Given the description of an element on the screen output the (x, y) to click on. 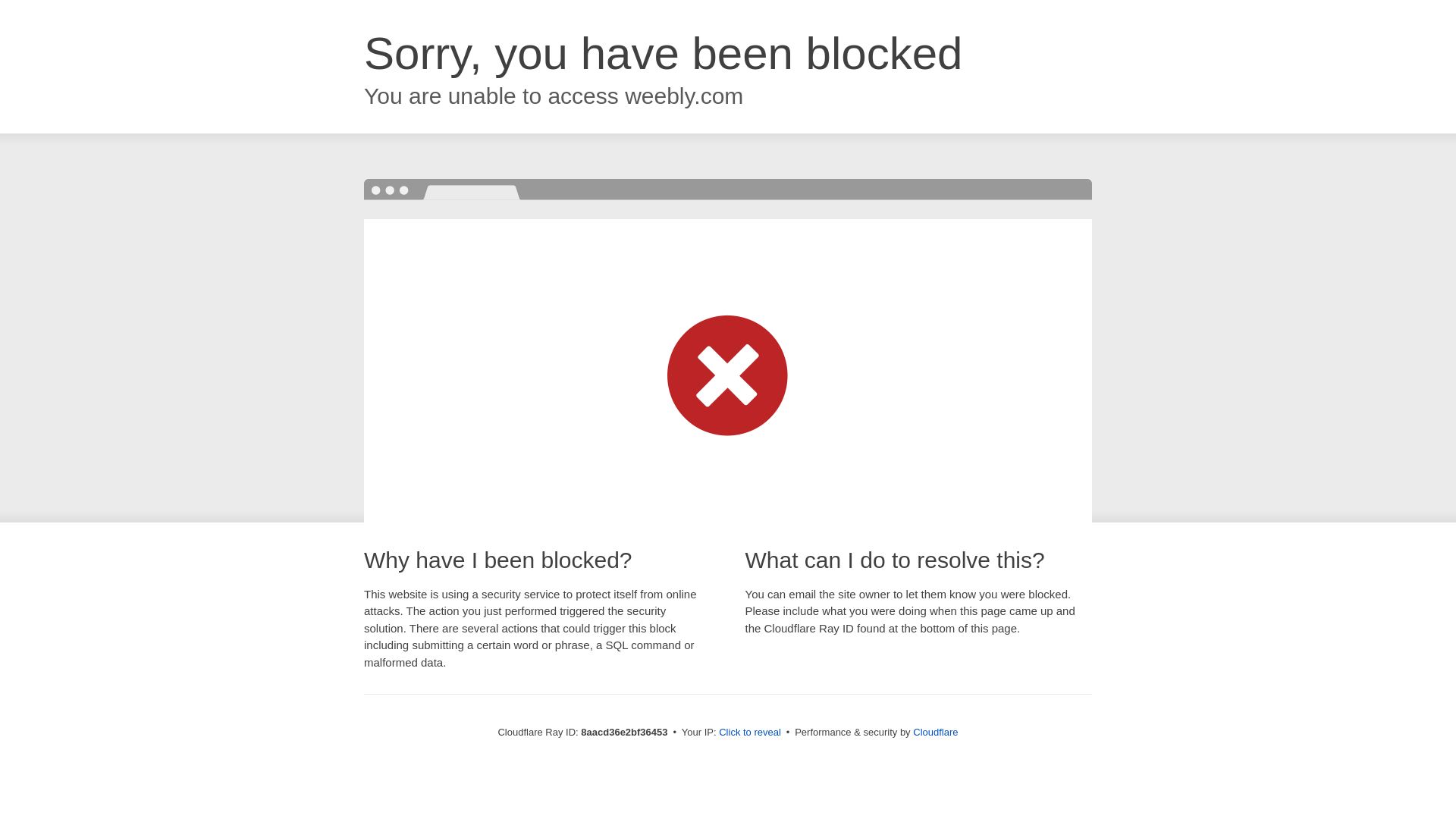
Click to reveal (749, 732)
Cloudflare (935, 731)
